Given the description of an element on the screen output the (x, y) to click on. 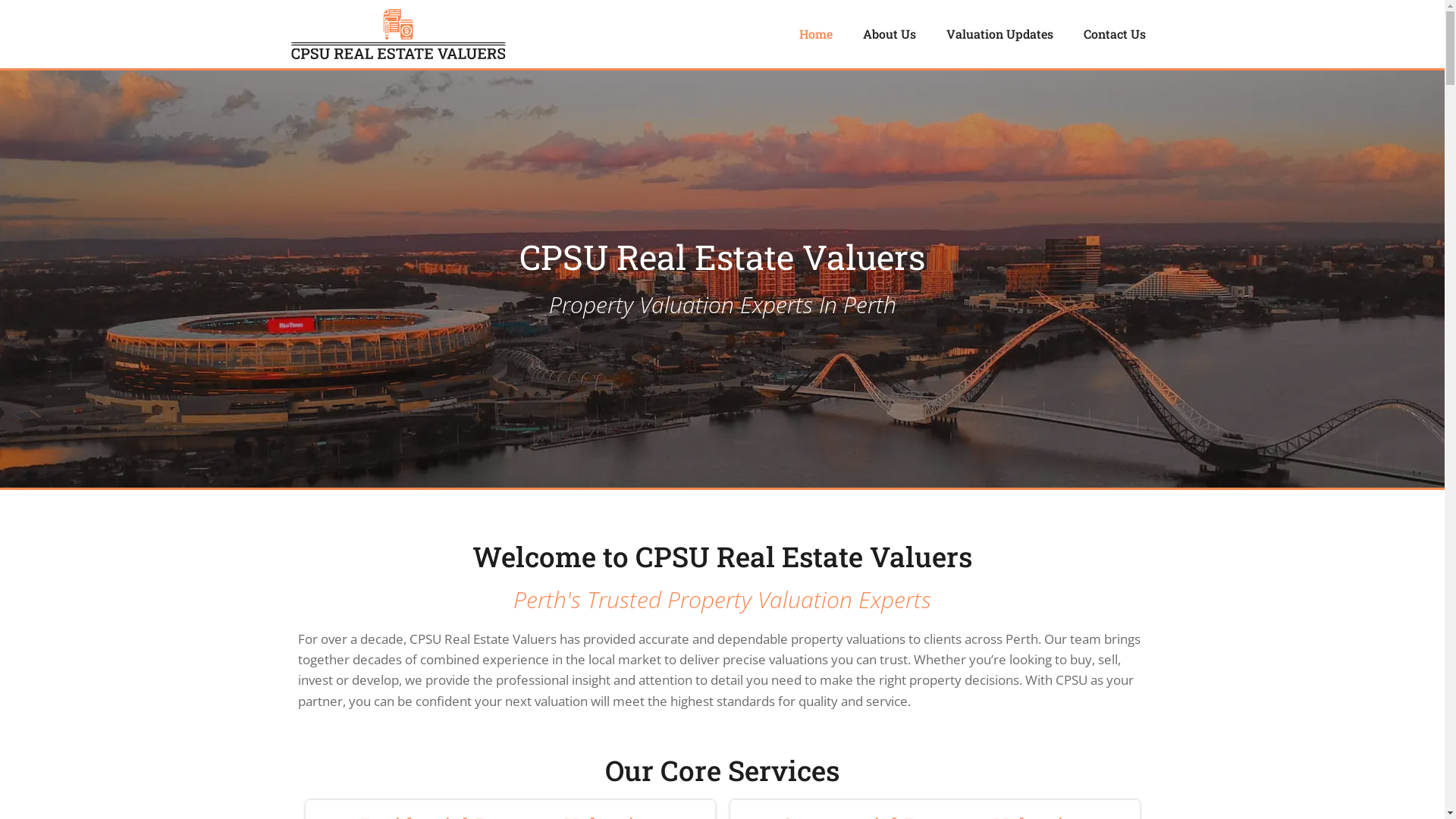
Valuation Updates Element type: text (999, 33)
Home Element type: text (815, 33)
Contact Us Element type: text (1114, 33)
About Us Element type: text (889, 33)
